Given the description of an element on the screen output the (x, y) to click on. 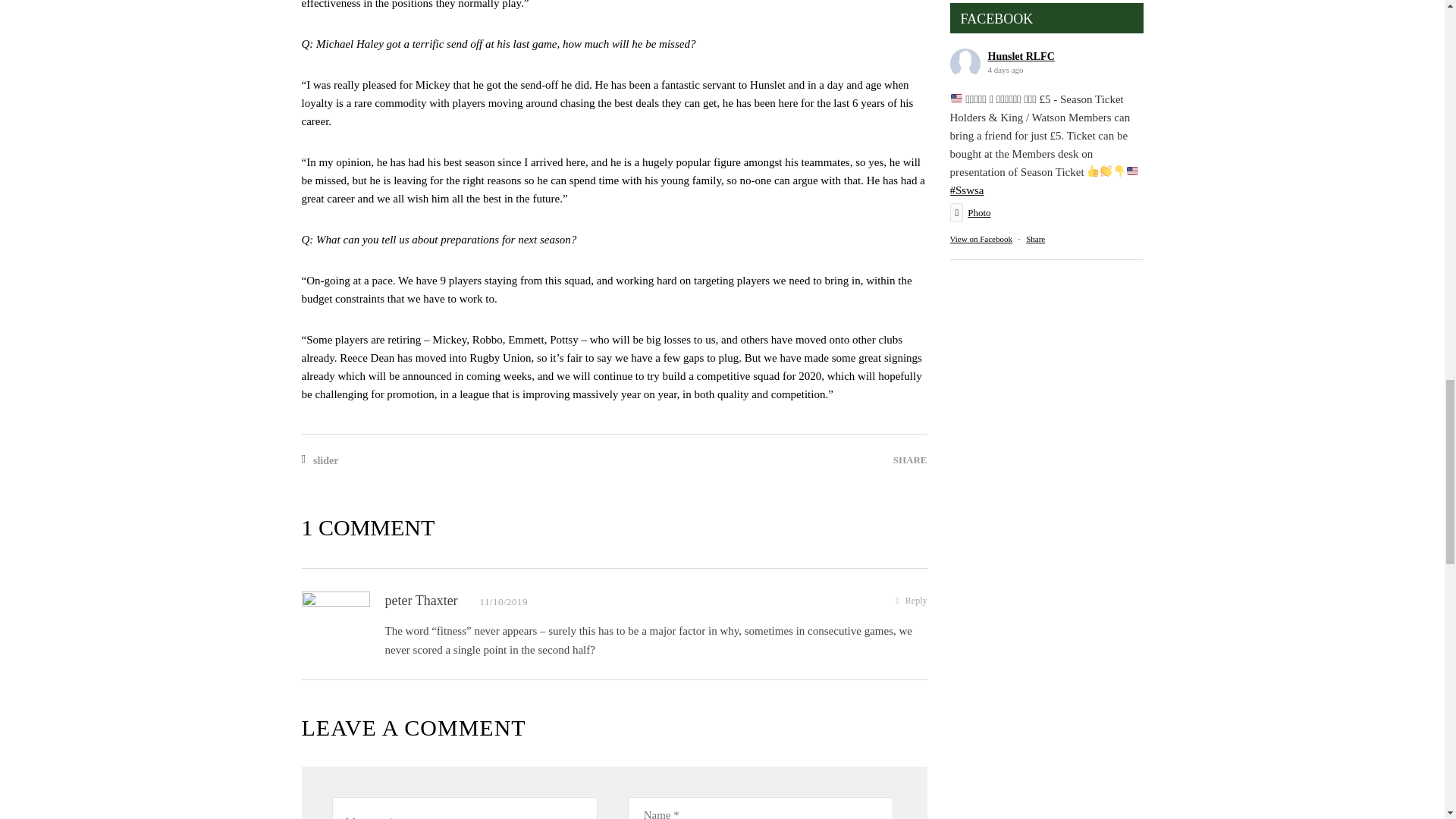
View on Facebook (980, 238)
Share (1035, 238)
